Given the description of an element on the screen output the (x, y) to click on. 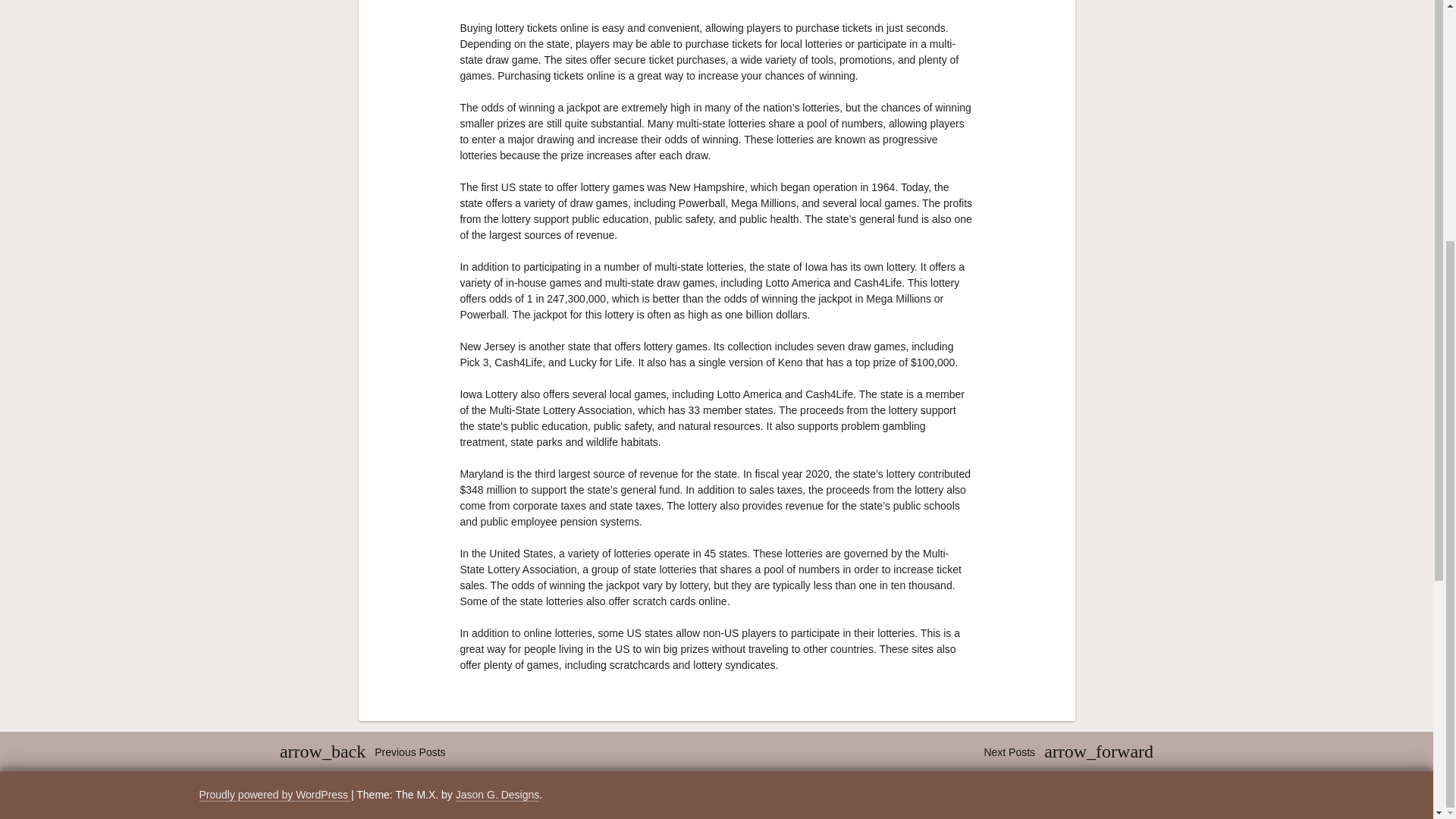
Jason G. Designs (497, 794)
Proudly powered by WordPress (274, 794)
